Given the description of an element on the screen output the (x, y) to click on. 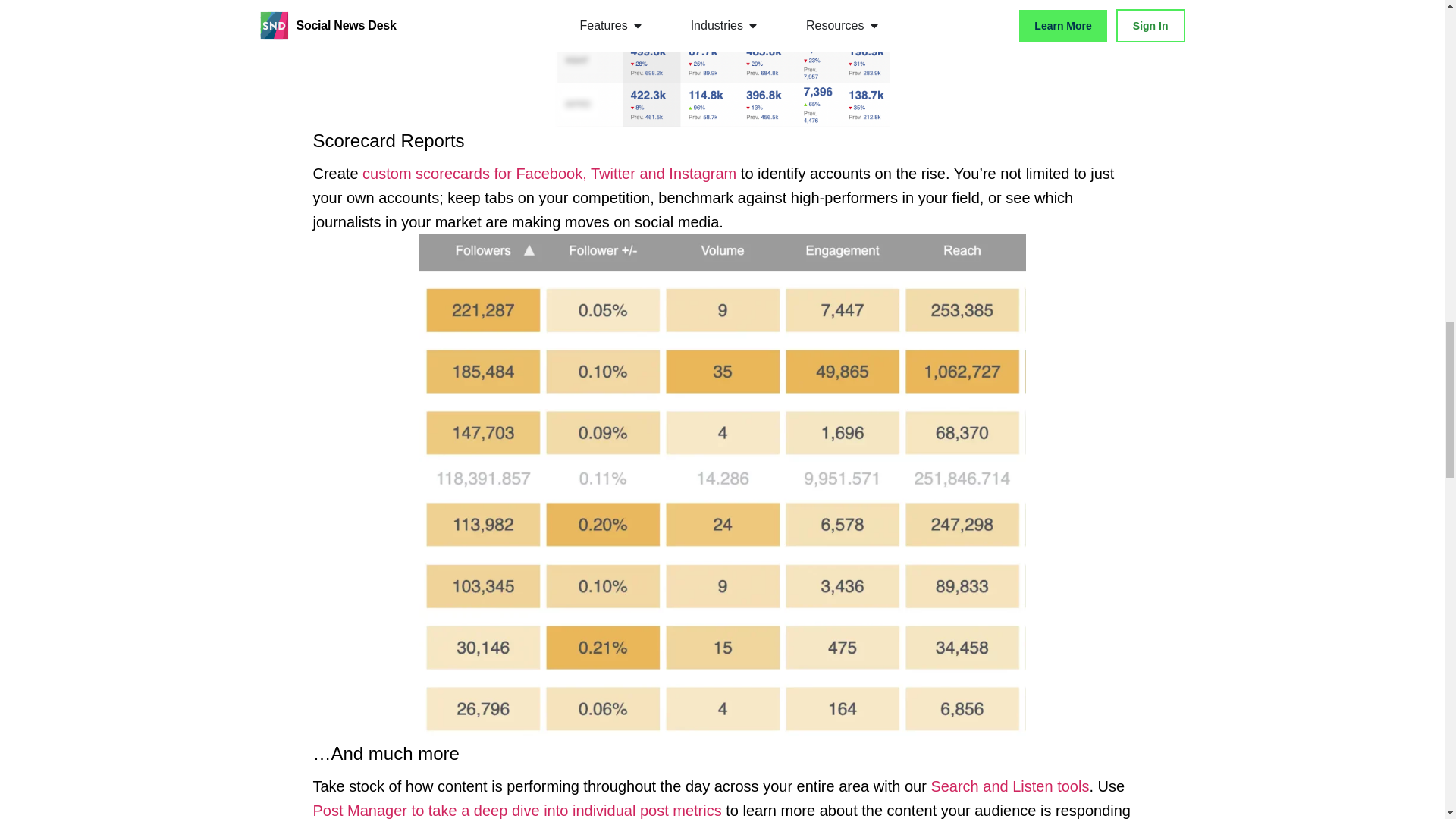
Search and Listen makes content discovery easy (1009, 786)
NEW: Email Reports from SND! (549, 173)
Reporting: All in one place (516, 810)
